Given the description of an element on the screen output the (x, y) to click on. 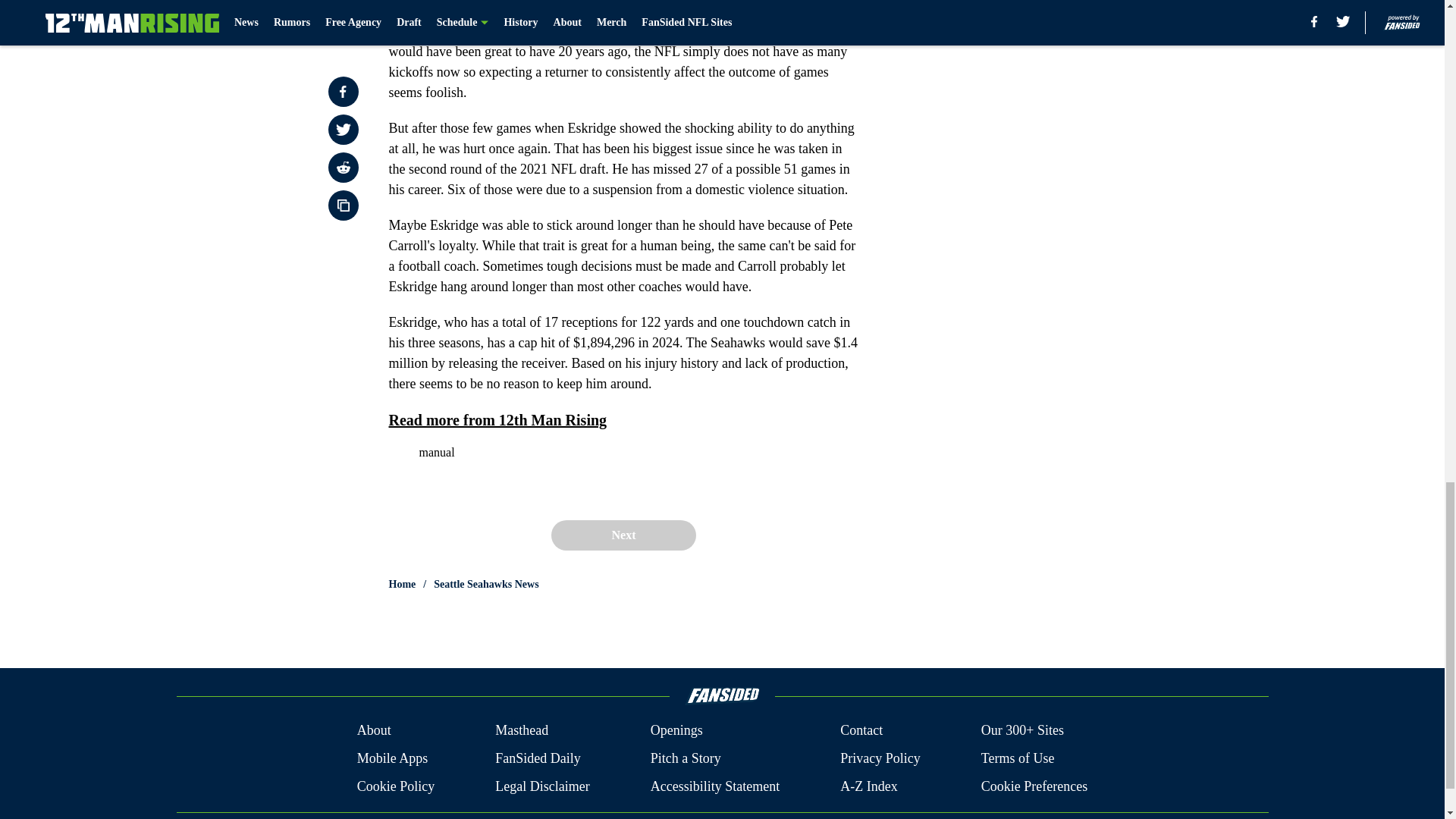
Contact (861, 730)
Mobile Apps (392, 758)
Legal Disclaimer (542, 786)
Home (401, 584)
Accessibility Statement (714, 786)
Seattle Seahawks News (485, 584)
Openings (676, 730)
Privacy Policy (880, 758)
FanSided Daily (537, 758)
Pitch a Story (685, 758)
Cookie Policy (395, 786)
About (373, 730)
Terms of Use (1017, 758)
Next (622, 535)
Masthead (521, 730)
